Given the description of an element on the screen output the (x, y) to click on. 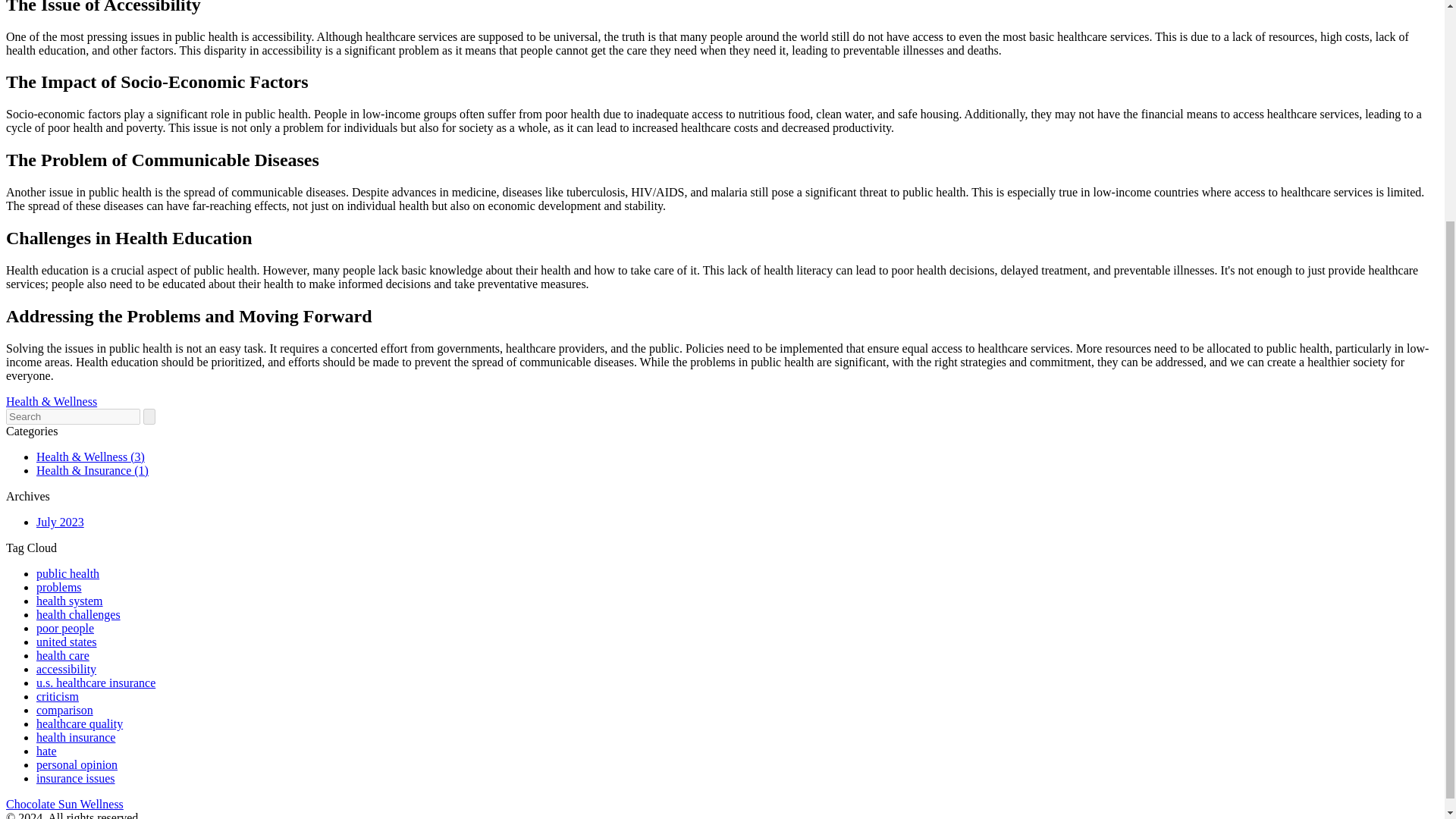
insurance issues (75, 778)
public health (67, 573)
healthcare quality (79, 723)
health challenges (78, 614)
criticism (57, 696)
u.s. healthcare insurance (95, 682)
health care (62, 655)
health system (69, 600)
hate (46, 750)
comparison (64, 709)
health insurance (75, 737)
July 2023 (60, 521)
poor people (65, 627)
Chocolate Sun Wellness (64, 803)
personal opinion (76, 764)
